Given the description of an element on the screen output the (x, y) to click on. 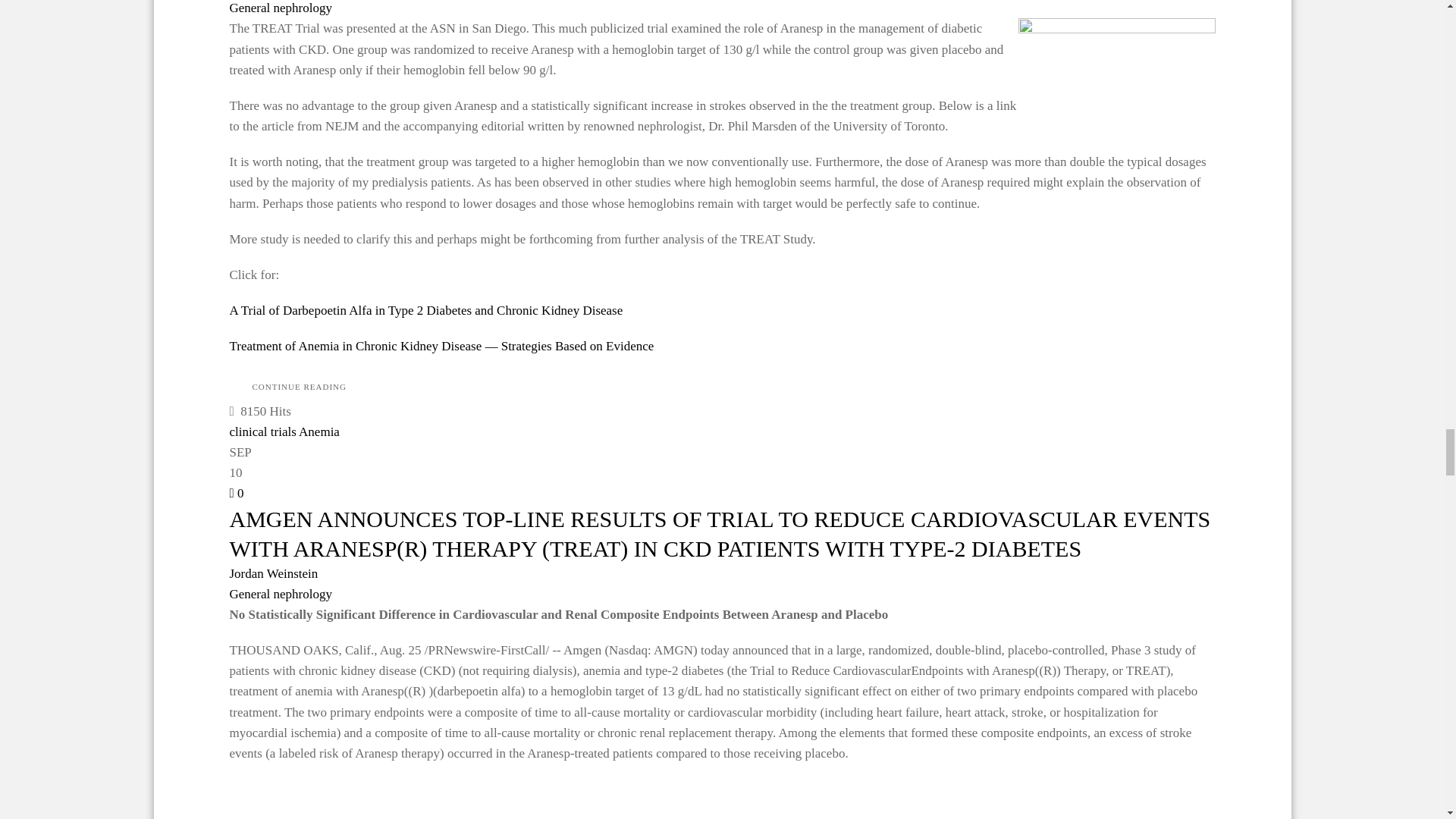
TREAT Editorial (440, 345)
